Given the description of an element on the screen output the (x, y) to click on. 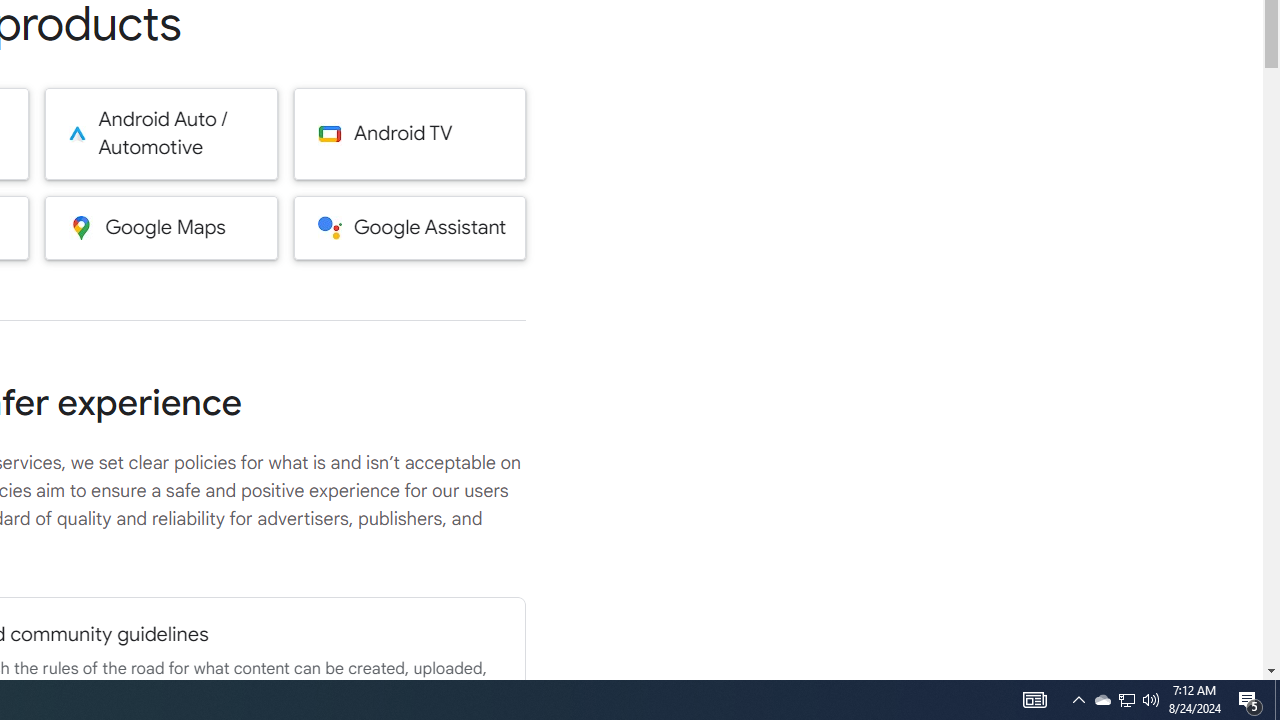
Android TV (410, 133)
Android Auto / Automotive (160, 133)
Google Assistant (410, 227)
Google Maps (160, 227)
